Given the description of an element on the screen output the (x, y) to click on. 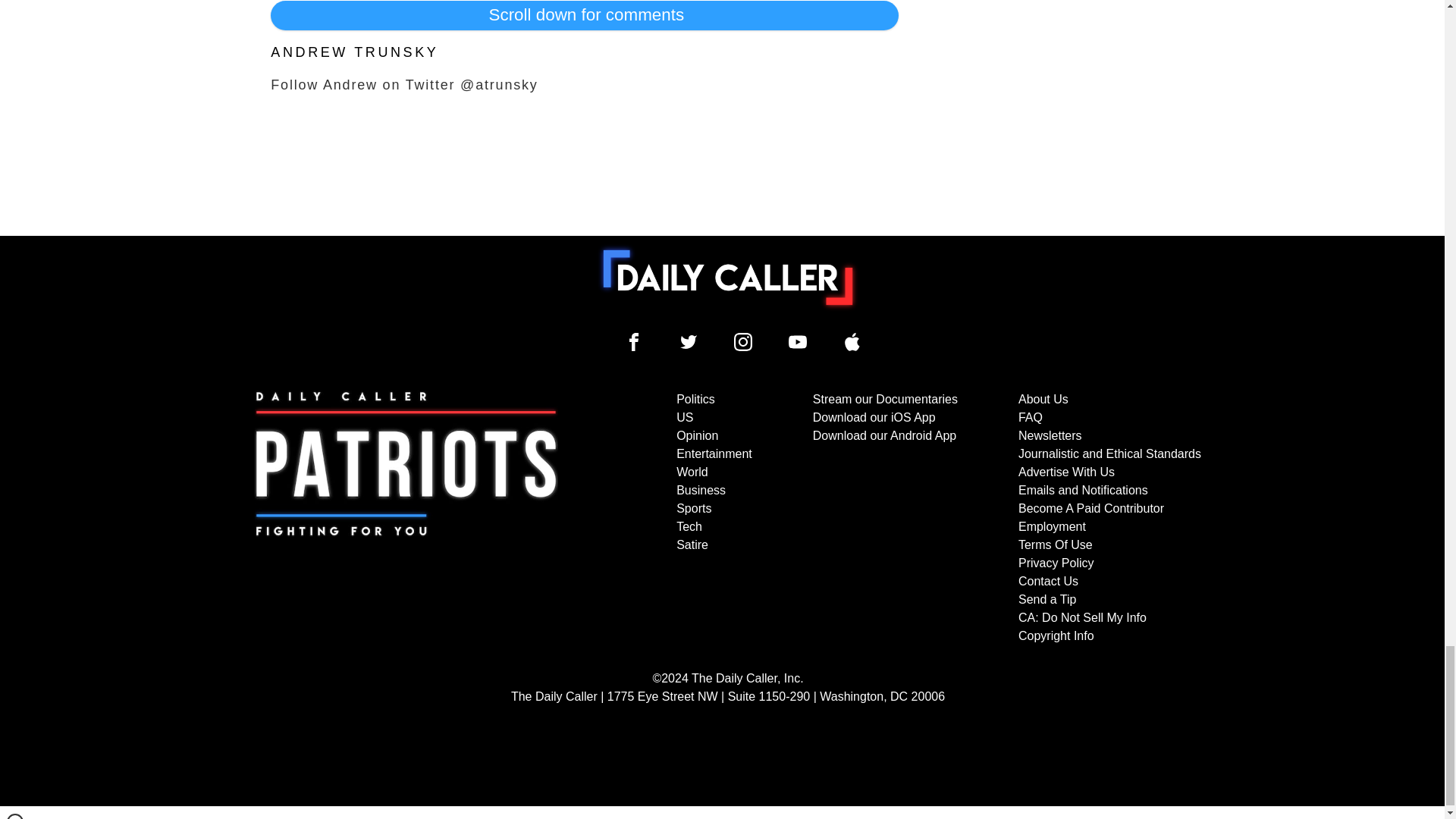
Daily Caller YouTube (852, 341)
Subscribe to The Daily Caller (405, 517)
Scroll down for comments (584, 14)
Daily Caller Instagram (742, 341)
Daily Caller Twitter (688, 341)
Daily Caller YouTube (797, 341)
Daily Caller Facebook (633, 341)
To home page (727, 276)
